Given the description of an element on the screen output the (x, y) to click on. 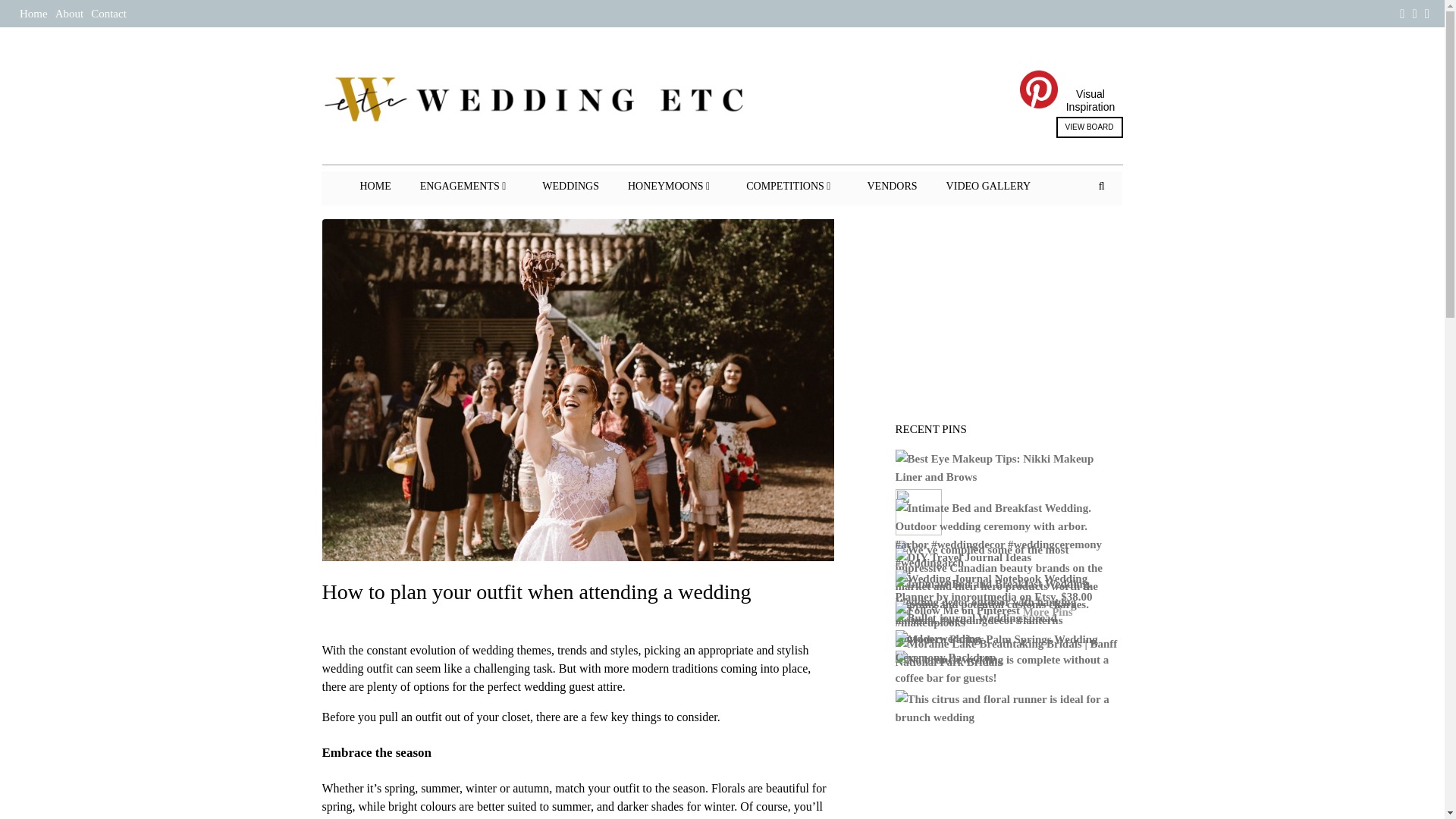
Best Eye Makeup Tips: Nikki Makeup Liner and Brows (1008, 468)
VIEW BOARD (1089, 127)
ENGAGEMENTS (466, 186)
DIY Travel Journal Ideas (964, 558)
This citrus and floral runner is ideal for a brunch wedding (1008, 709)
Home (34, 13)
HOME (375, 186)
About (69, 13)
Contact (108, 13)
